Given the description of an element on the screen output the (x, y) to click on. 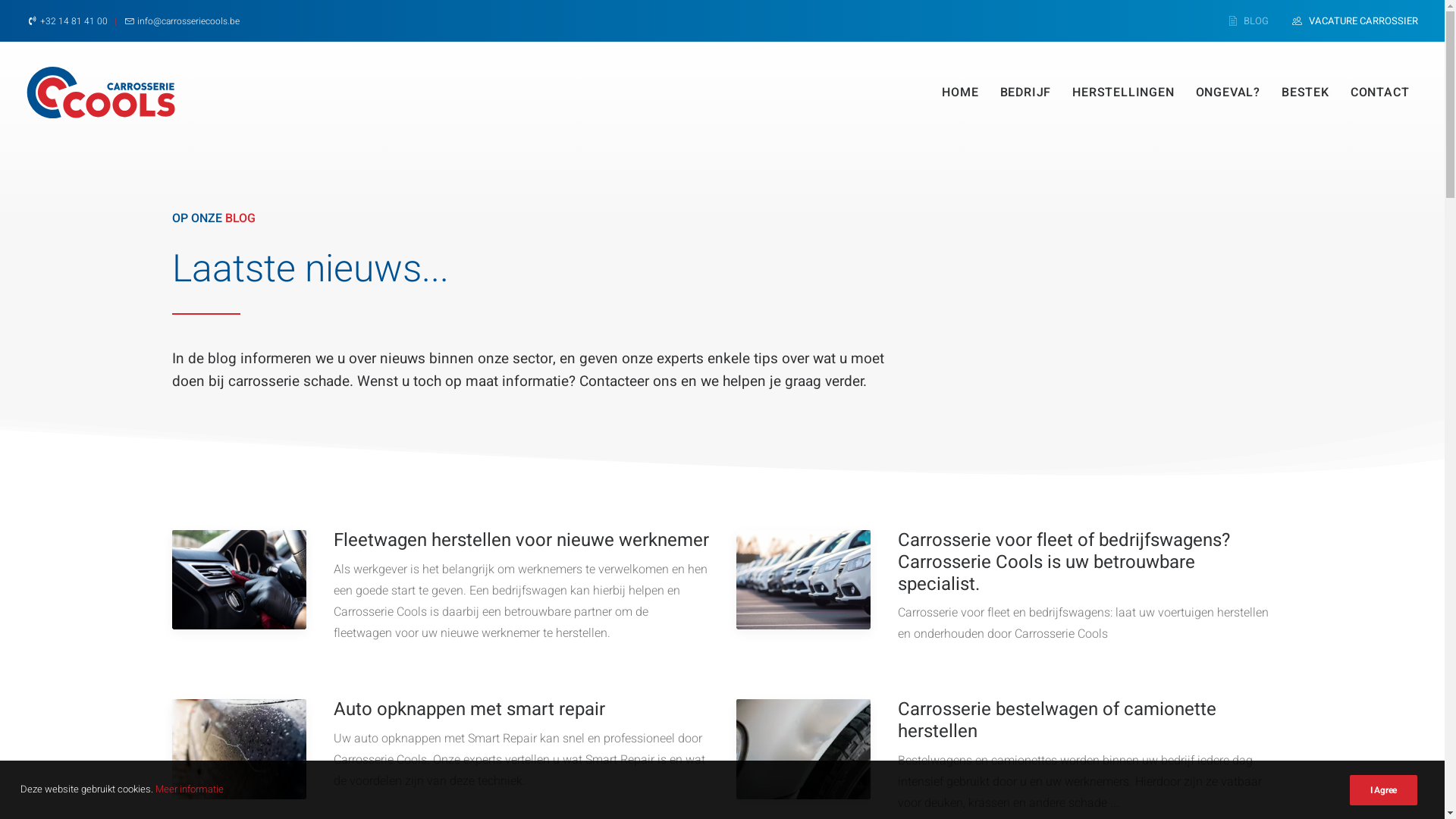
HERSTELLINGEN Element type: text (1122, 92)
Carrosserie bestelwagen of camionette herstellen Element type: text (1056, 720)
Meer informatie Element type: text (189, 788)
BEDRIJF Element type: text (1025, 92)
BESTEK Element type: text (1305, 92)
Fleetwagen herstellen voor nieuwe werknemer Element type: text (521, 540)
info@carrosseriecools.be Element type: text (188, 20)
BLOG Element type: text (1253, 20)
CONTACT Element type: text (1379, 92)
HOME Element type: text (959, 92)
ONGEVAL? Element type: text (1227, 92)
VACATURE CARROSSIER Element type: text (1355, 20)
I Agree Element type: text (1383, 790)
Auto opknappen met smart repair Element type: text (469, 709)
